Given the description of an element on the screen output the (x, y) to click on. 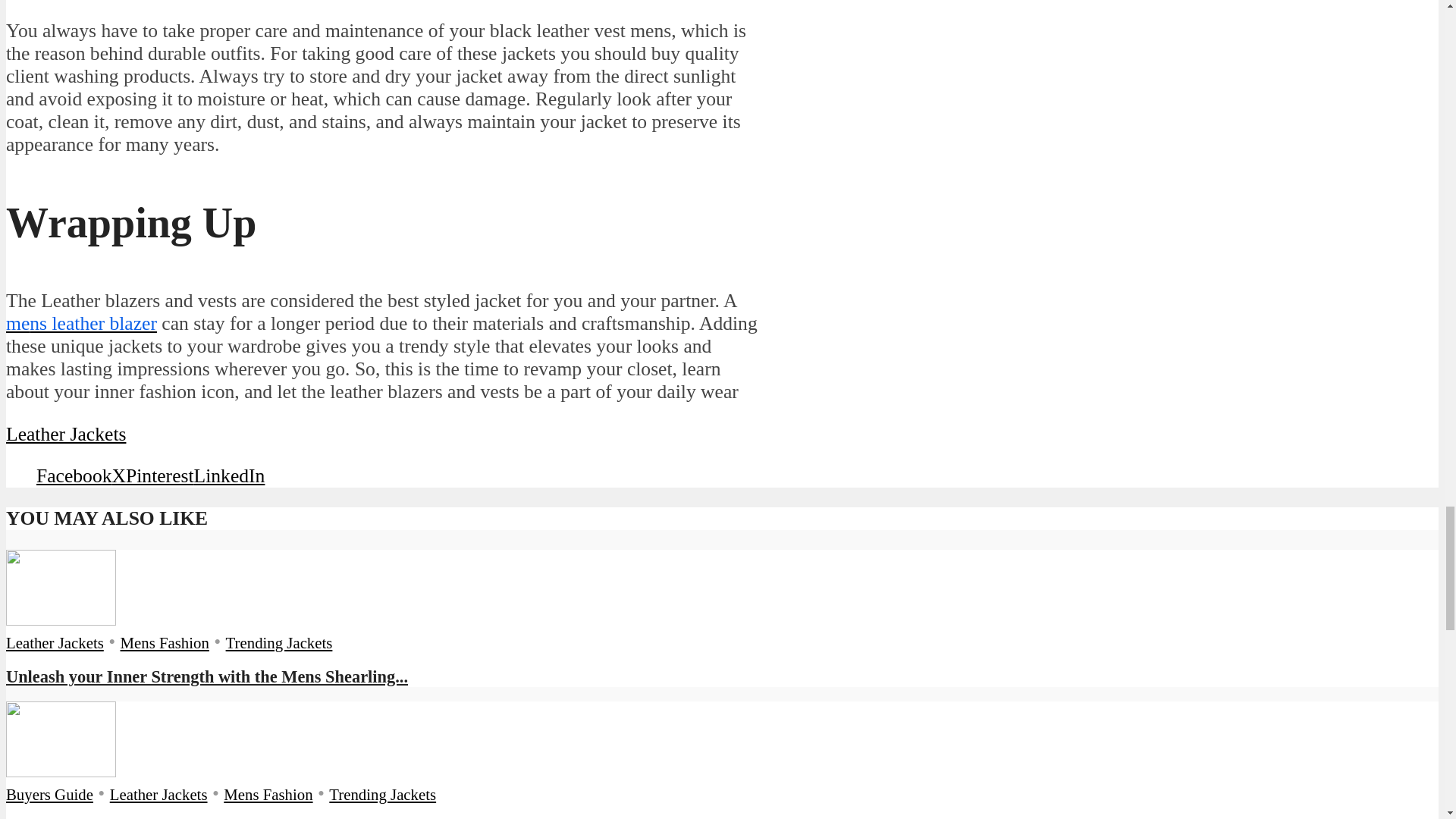
Mens Fashion (164, 642)
Trending Jackets (382, 794)
ns leather blazer (93, 323)
Leather Jackets (65, 434)
LinkedIn (228, 475)
Leather Jackets (159, 794)
Unleash your Inner Strength with the Mens Shearling... (206, 676)
Mens Fashion (268, 794)
Pinterest (159, 475)
me (17, 323)
Facebook (74, 475)
Buyers Guide (49, 794)
Trending Jackets (279, 642)
Leather Jackets (54, 642)
